Given the description of an element on the screen output the (x, y) to click on. 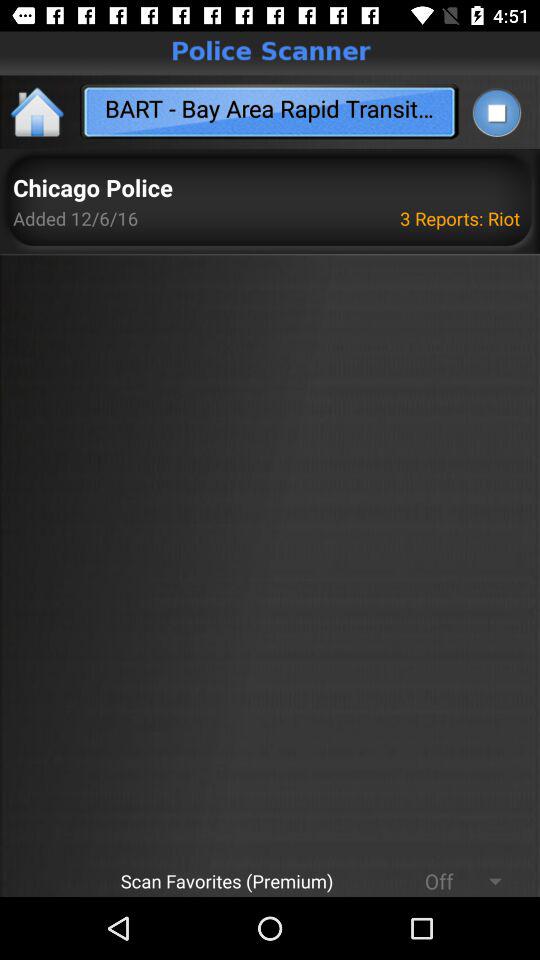
flip until chicago police (92, 188)
